Given the description of an element on the screen output the (x, y) to click on. 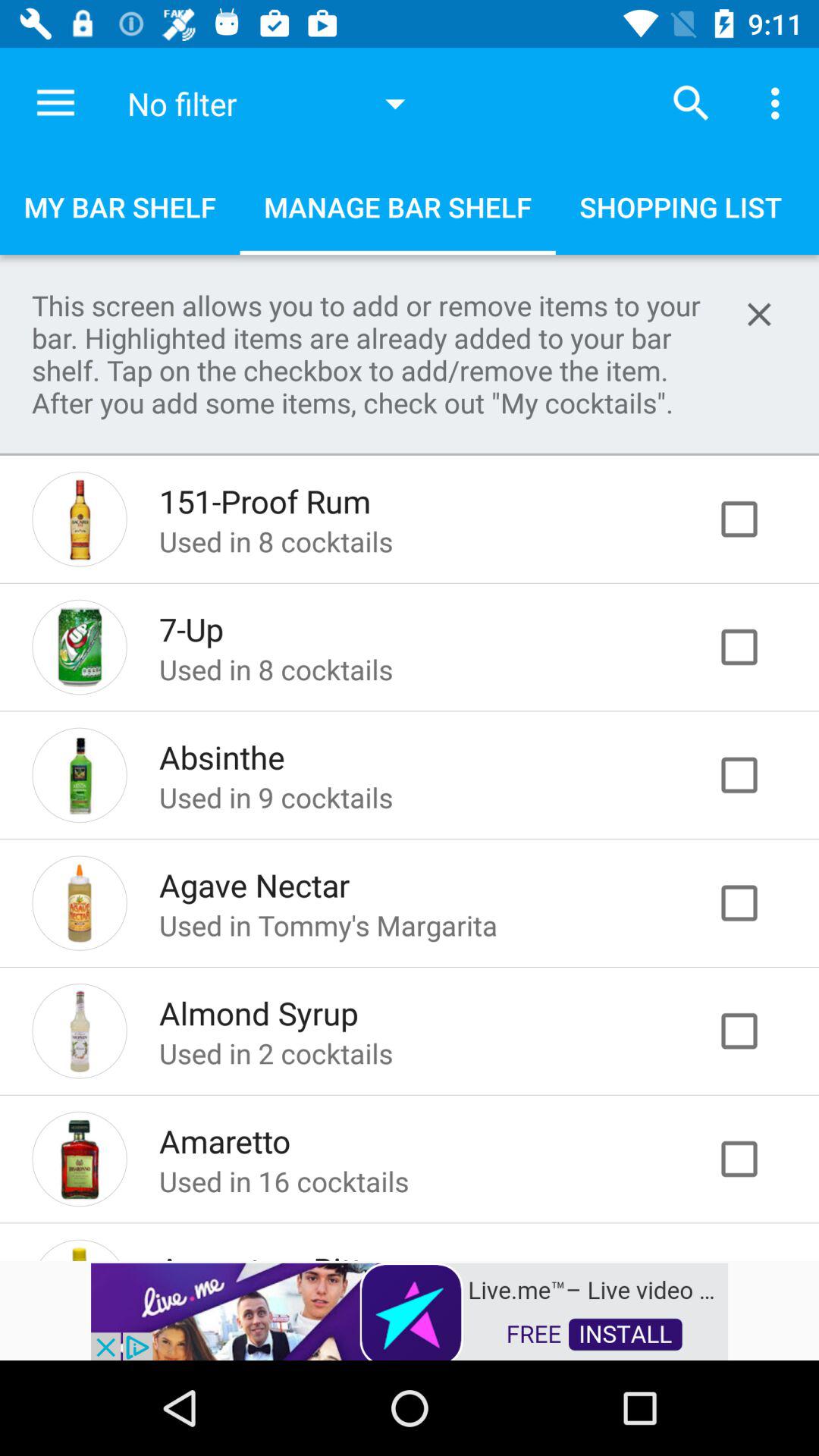
select ingredient (755, 902)
